Given the description of an element on the screen output the (x, y) to click on. 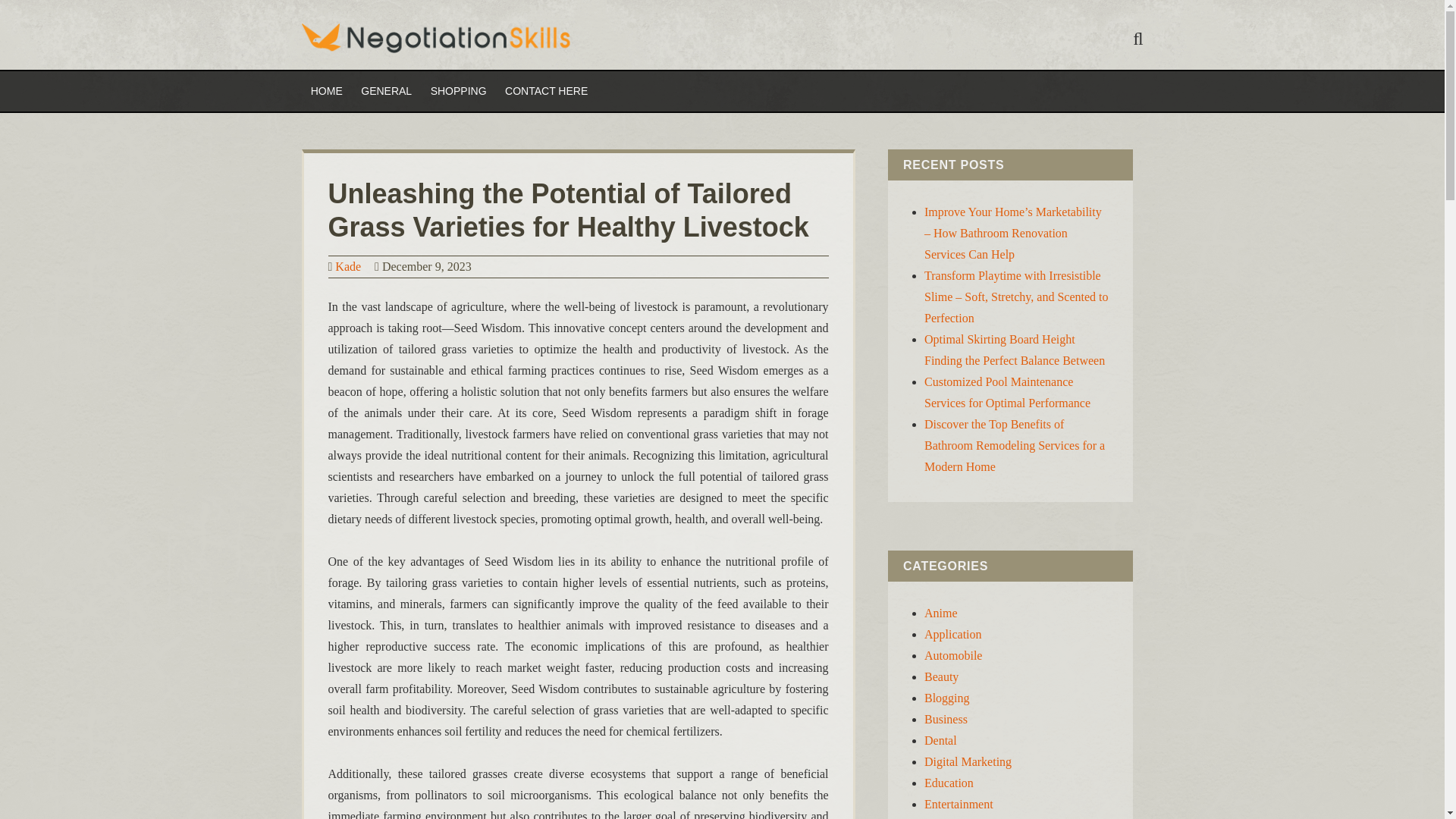
CONTACT HERE (546, 90)
Education (949, 782)
Automobile (952, 655)
Customized Pool Maintenance Services for Optimal Performance (1007, 392)
Digital Marketing (967, 761)
Beauty (941, 676)
Entertainment (958, 803)
HOME (326, 90)
Kade (347, 266)
Business (946, 718)
GENERAL (386, 90)
Application (952, 634)
Dental (940, 739)
